Given the description of an element on the screen output the (x, y) to click on. 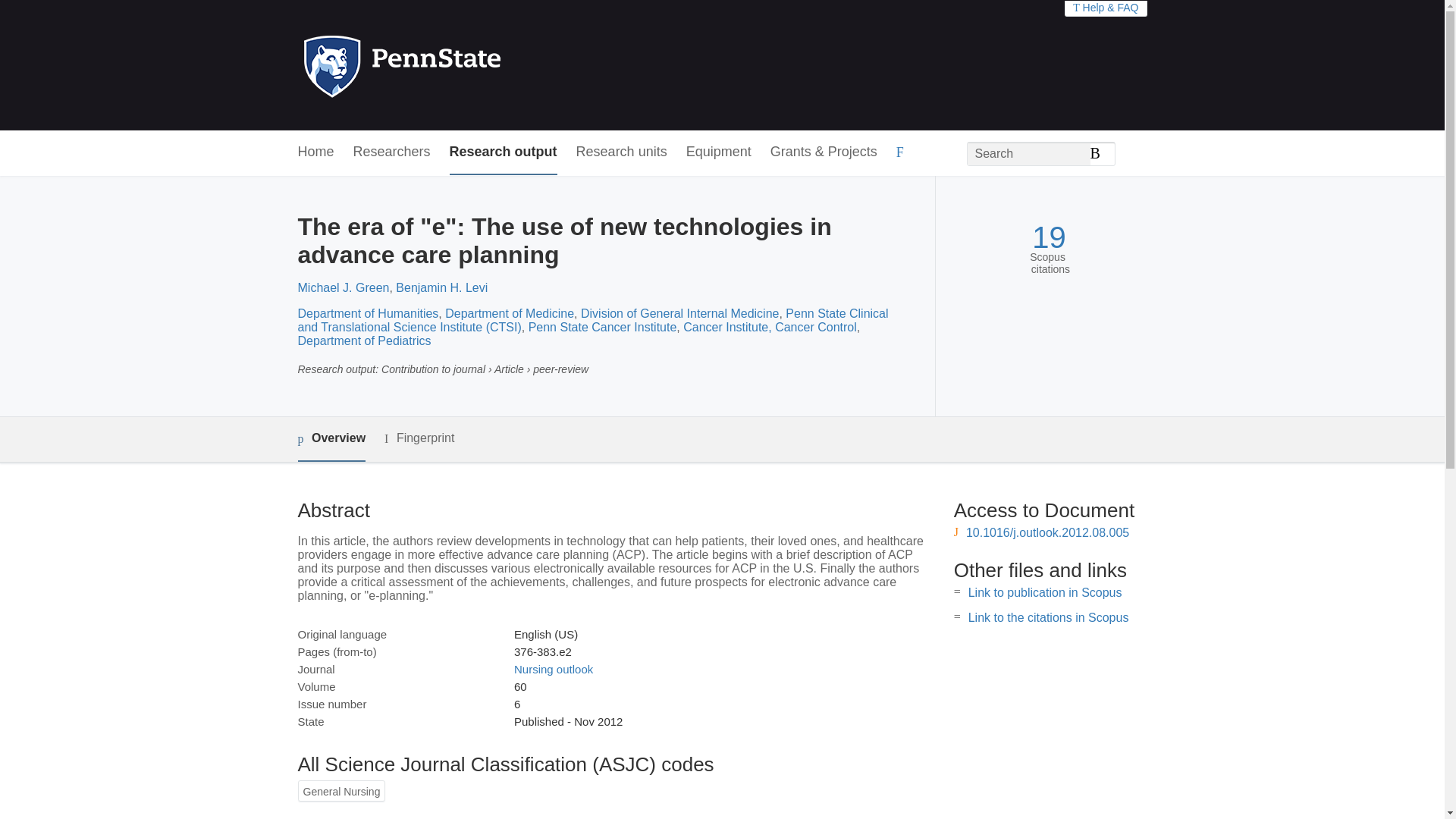
Department of Medicine (509, 313)
Overview (331, 438)
Fingerprint (419, 438)
Benjamin H. Levi (441, 287)
Researchers (391, 152)
Department of Pediatrics (363, 340)
Division of General Internal Medicine (679, 313)
Nursing outlook (552, 668)
Penn State Home (467, 65)
Penn State Cancer Institute (602, 327)
Cancer Institute, Cancer Control (769, 327)
Equipment (718, 152)
Link to the citations in Scopus (1048, 617)
Research units (621, 152)
